Given the description of an element on the screen output the (x, y) to click on. 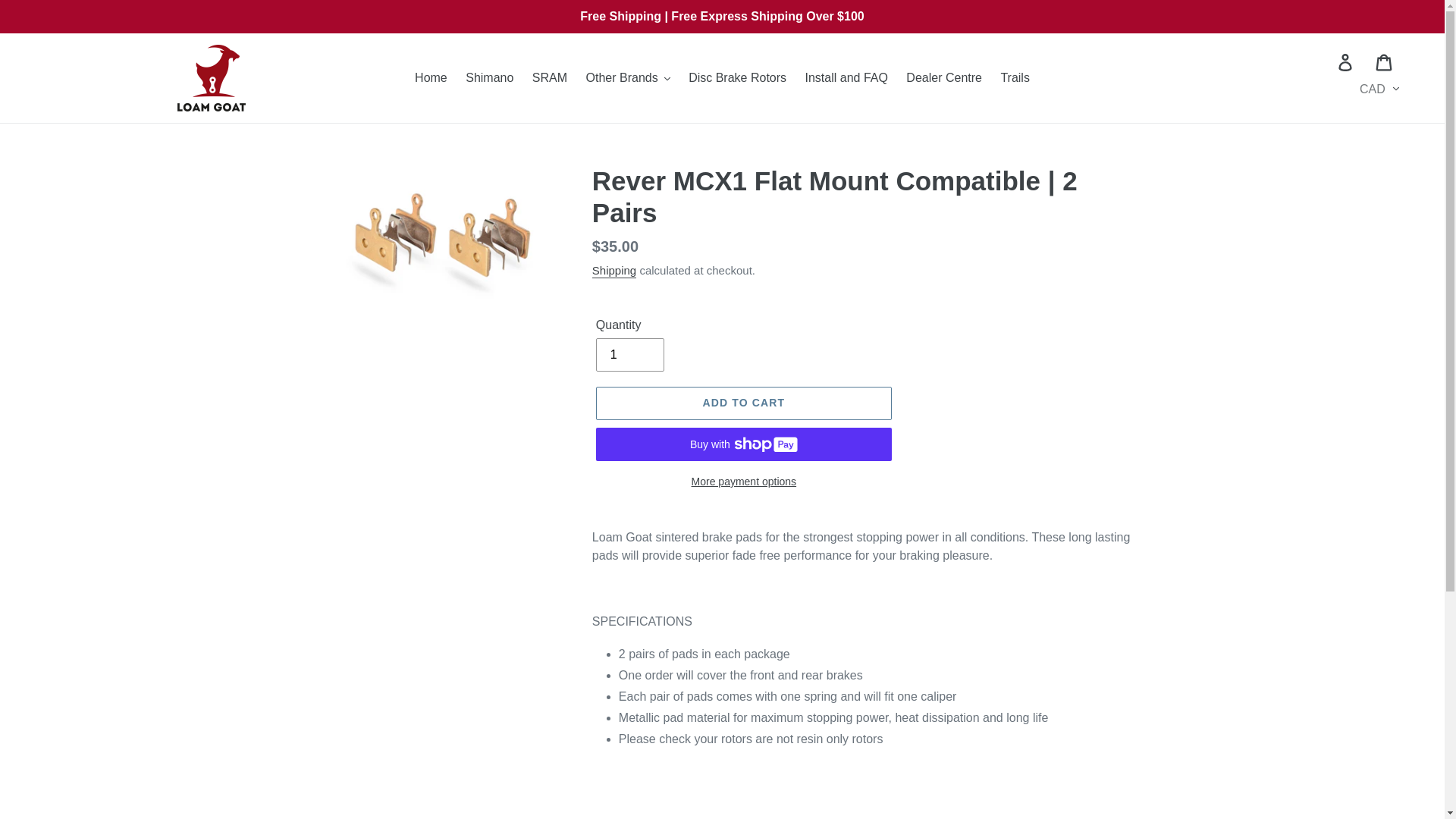
Shimano (489, 77)
SRAM (549, 77)
1 (629, 354)
Dealer Centre (944, 77)
Log in (1347, 60)
Cart (1385, 60)
Home (430, 77)
Disc Brake Rotors (737, 77)
Trails (1014, 77)
Install and FAQ (846, 77)
